Given the description of an element on the screen output the (x, y) to click on. 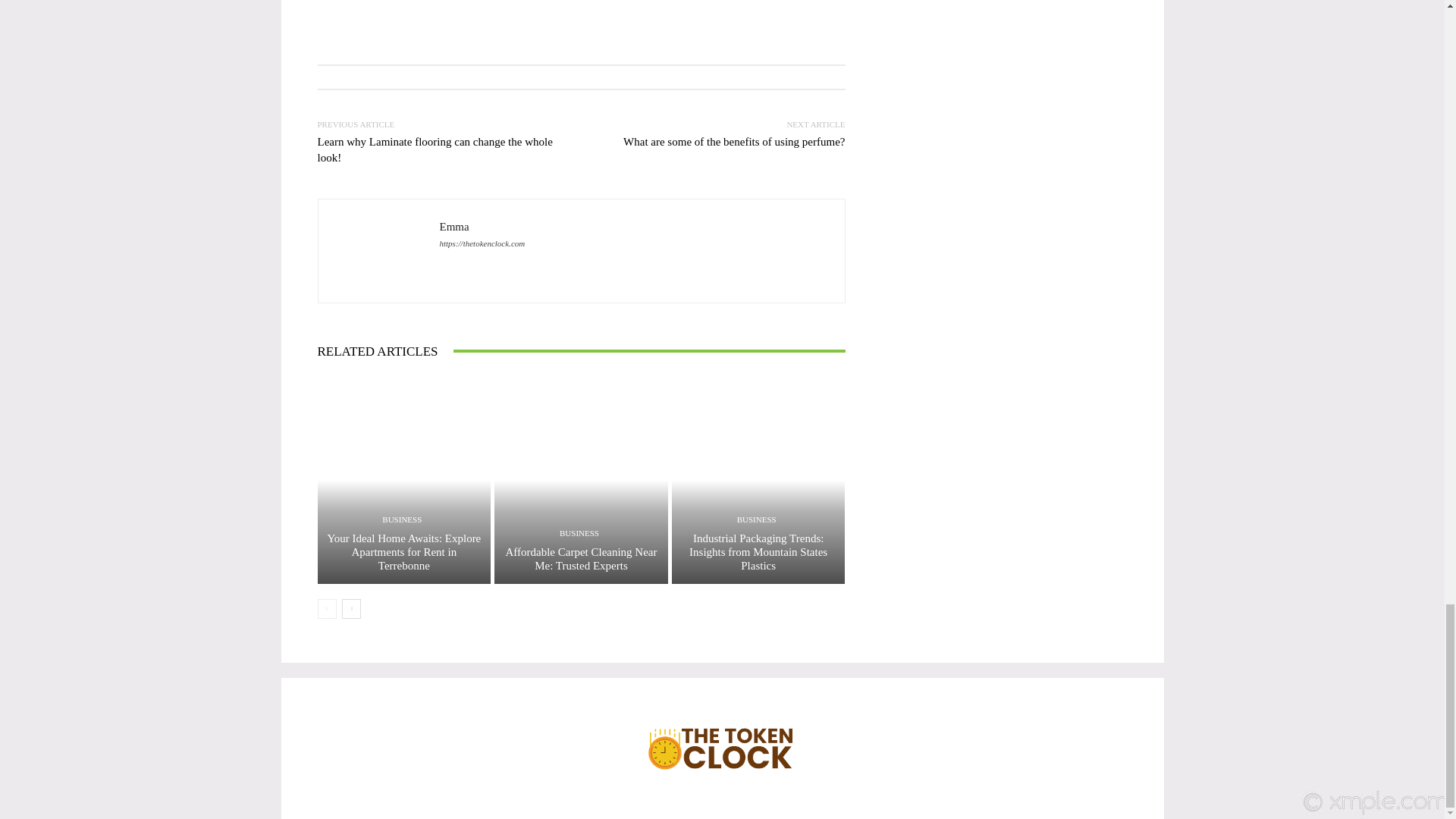
Affordable Carpet Cleaning Near Me: Trusted Experts (580, 558)
